Given the description of an element on the screen output the (x, y) to click on. 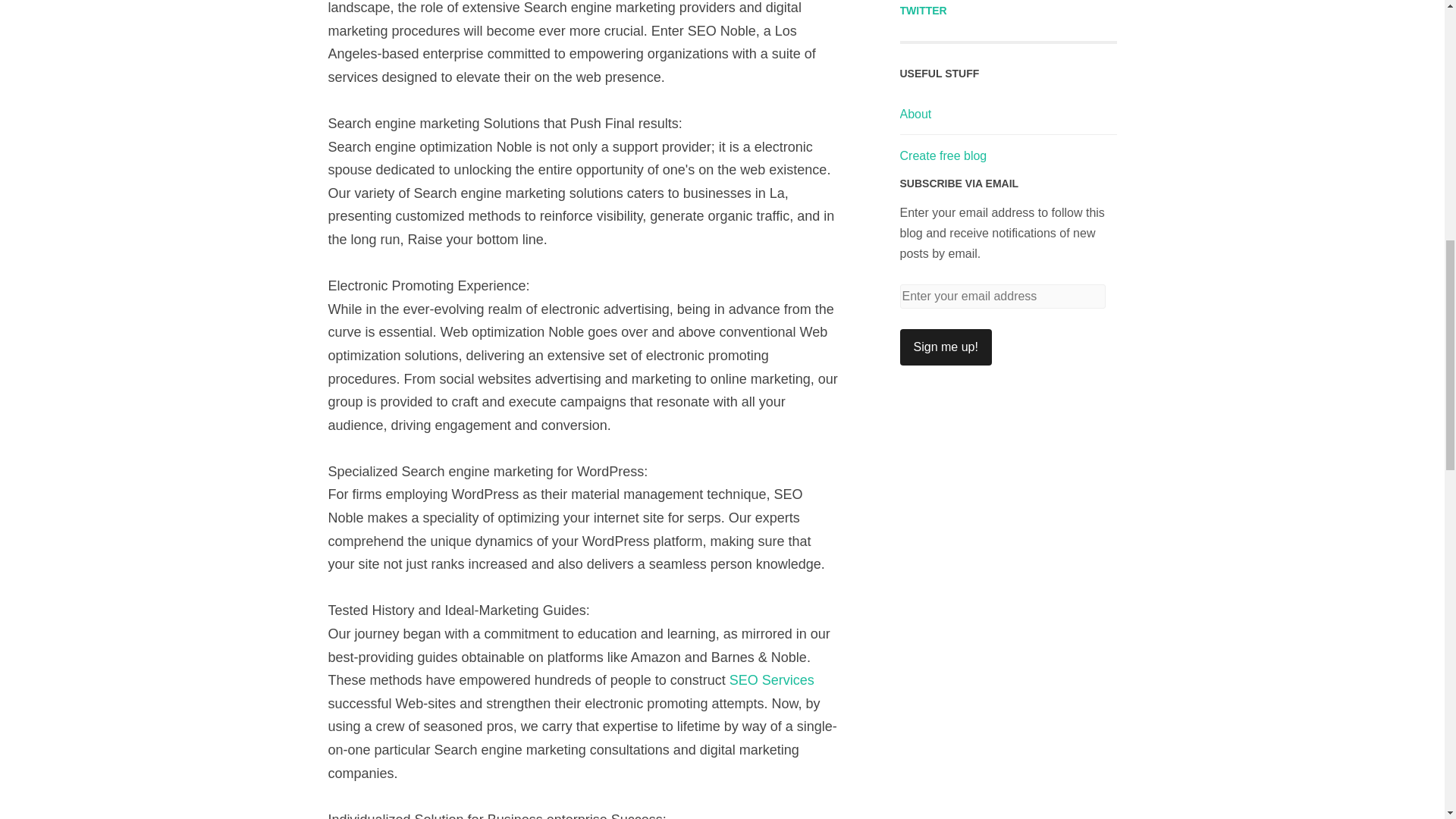
Sign me up! (945, 347)
SEO Services (771, 679)
Create free blog (943, 155)
Sign me up! (945, 347)
About (915, 113)
TWITTER (922, 10)
